Given the description of an element on the screen output the (x, y) to click on. 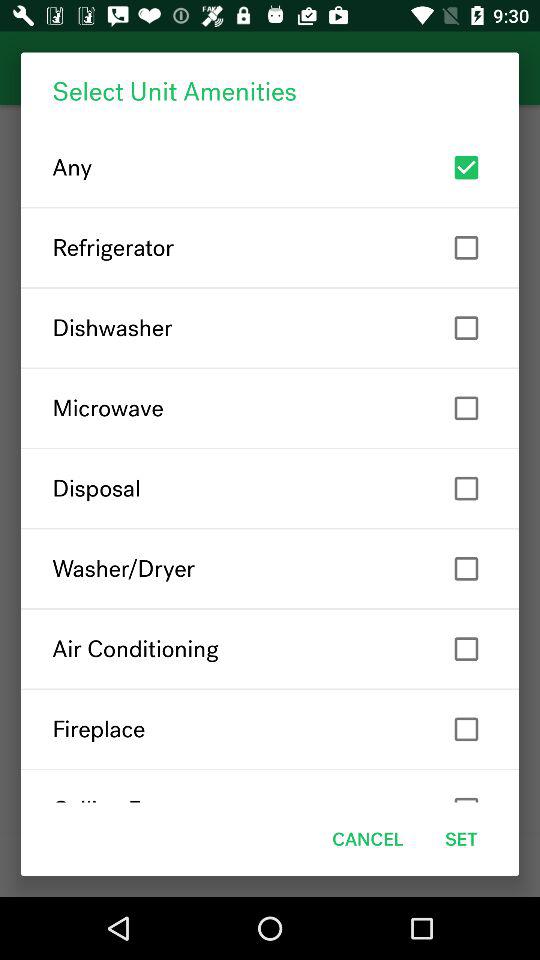
turn off the icon to the right of the cancel item (461, 838)
